Given the description of an element on the screen output the (x, y) to click on. 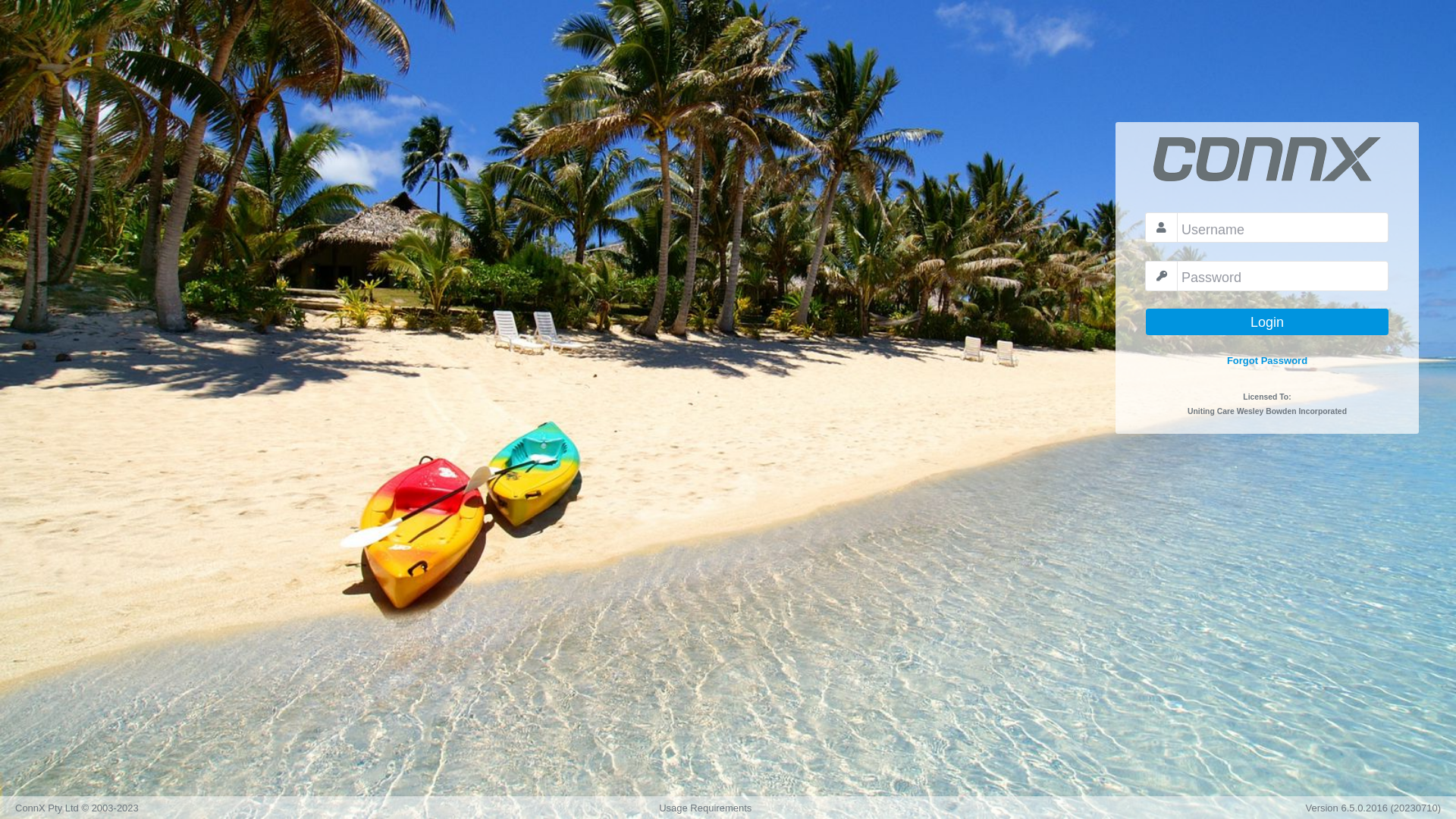
Usage Requirements Element type: text (704, 807)
Enter your username here. Element type: hover (1282, 227)
Forgot Password Element type: text (1266, 360)
Login Element type: text (1267, 321)
Forgot Password Element type: text (1266, 360)
Login Element type: text (1266, 321)
